Given the description of an element on the screen output the (x, y) to click on. 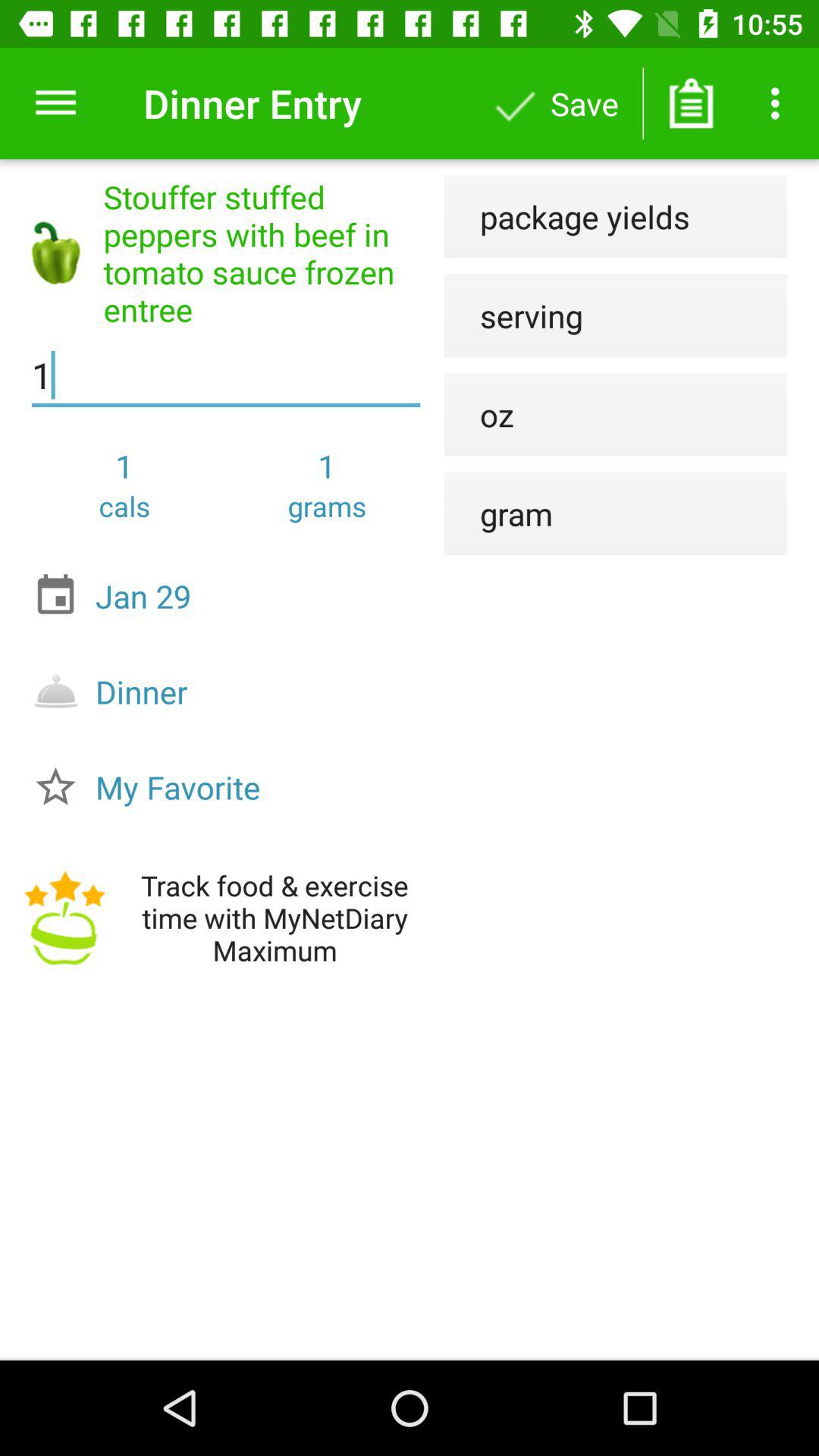
choose item below dinner (229, 786)
